Given the description of an element on the screen output the (x, y) to click on. 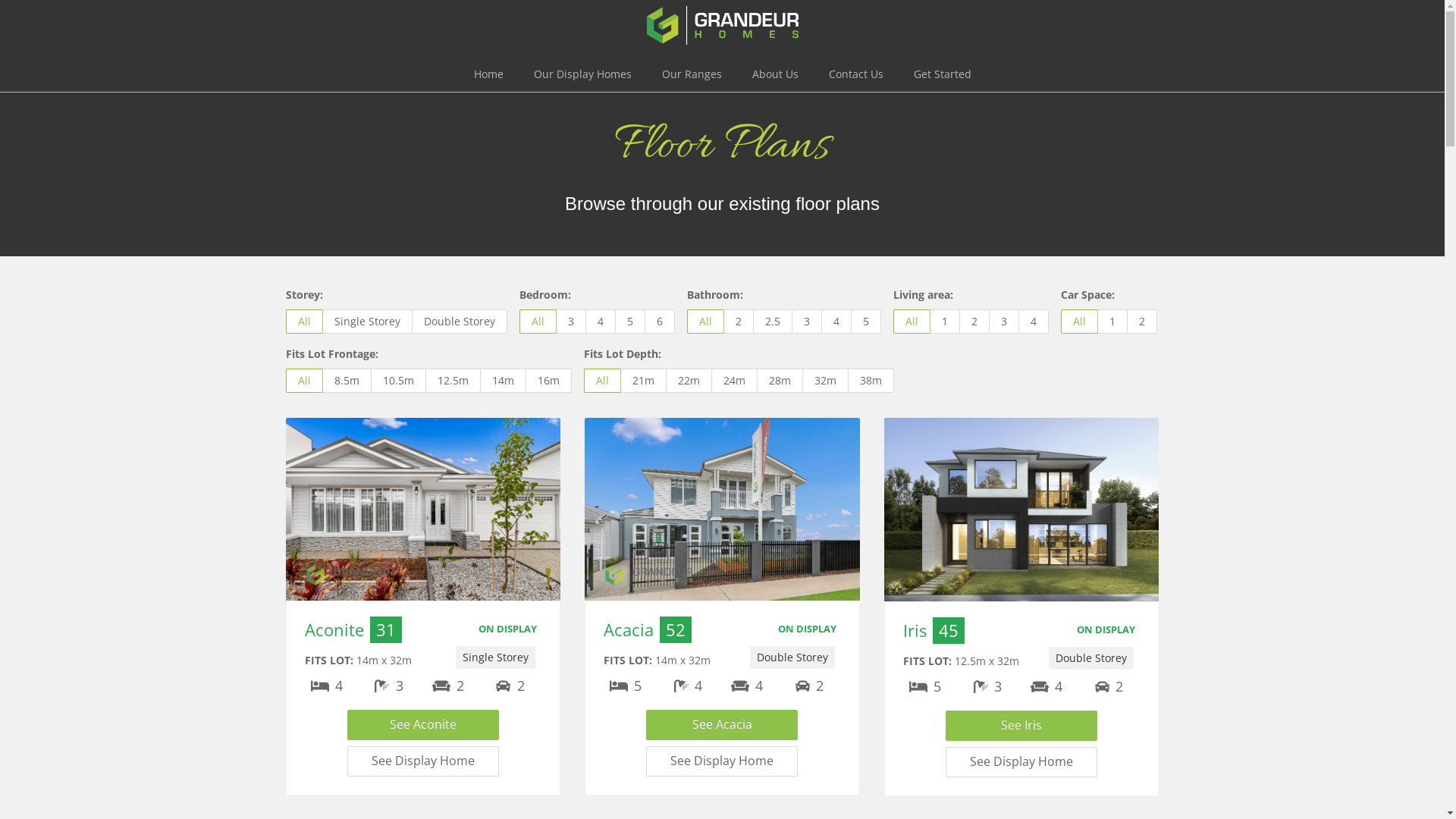
See Aconite Element type: text (422, 724)
See Display Home Element type: text (422, 760)
See Display Home Element type: text (721, 761)
Home Element type: text (487, 73)
See Display Home Element type: text (1021, 761)
See Display Home Element type: text (721, 760)
See Acacia Element type: text (721, 724)
See Iris Element type: text (1021, 725)
Contact Us Element type: text (855, 73)
See Display Home Element type: text (422, 761)
Our Display Homes Element type: text (582, 73)
See Display Home Element type: text (1021, 761)
